Given the description of an element on the screen output the (x, y) to click on. 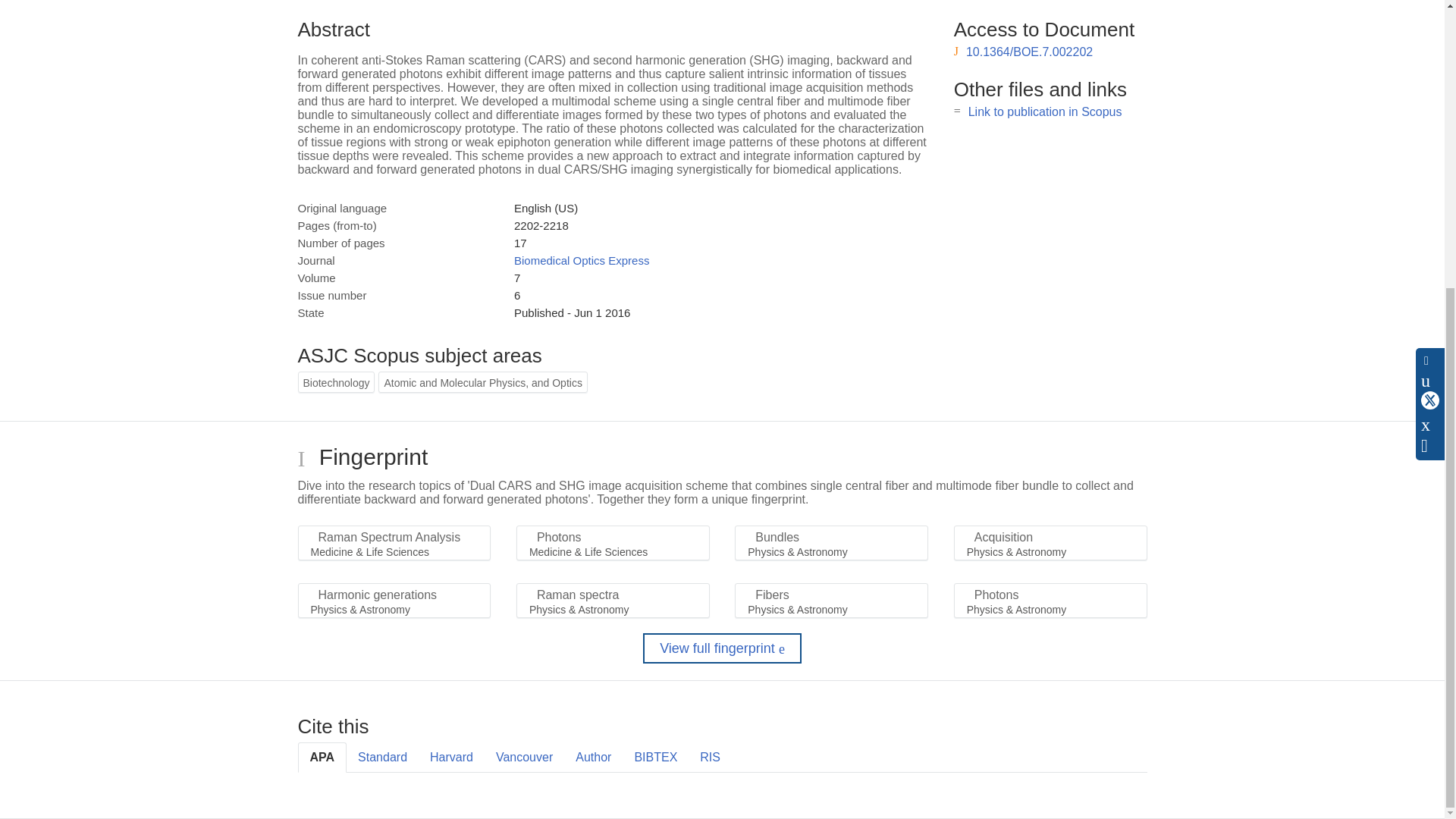
Biomedical Optics Express (581, 259)
View full fingerprint (722, 648)
Link to publication in Scopus (1045, 111)
